Given the description of an element on the screen output the (x, y) to click on. 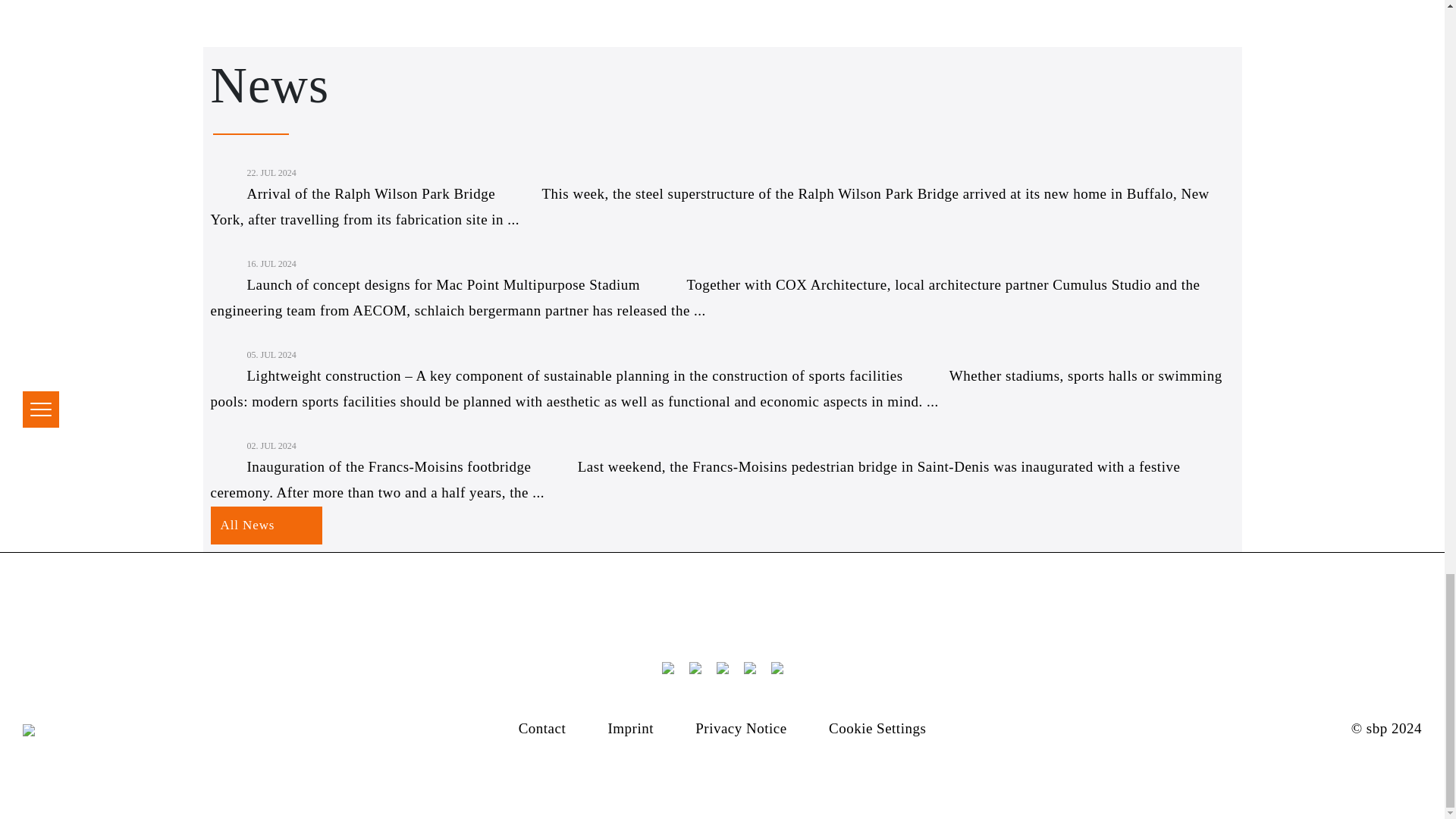
All News (267, 525)
Inauguration of the Francs-Moisins footbridge (374, 466)
Launch of concept designs for Mac Point Multipurpose Stadium (428, 284)
Arrival of the Ralph Wilson Park Bridge (356, 193)
